Given the description of an element on the screen output the (x, y) to click on. 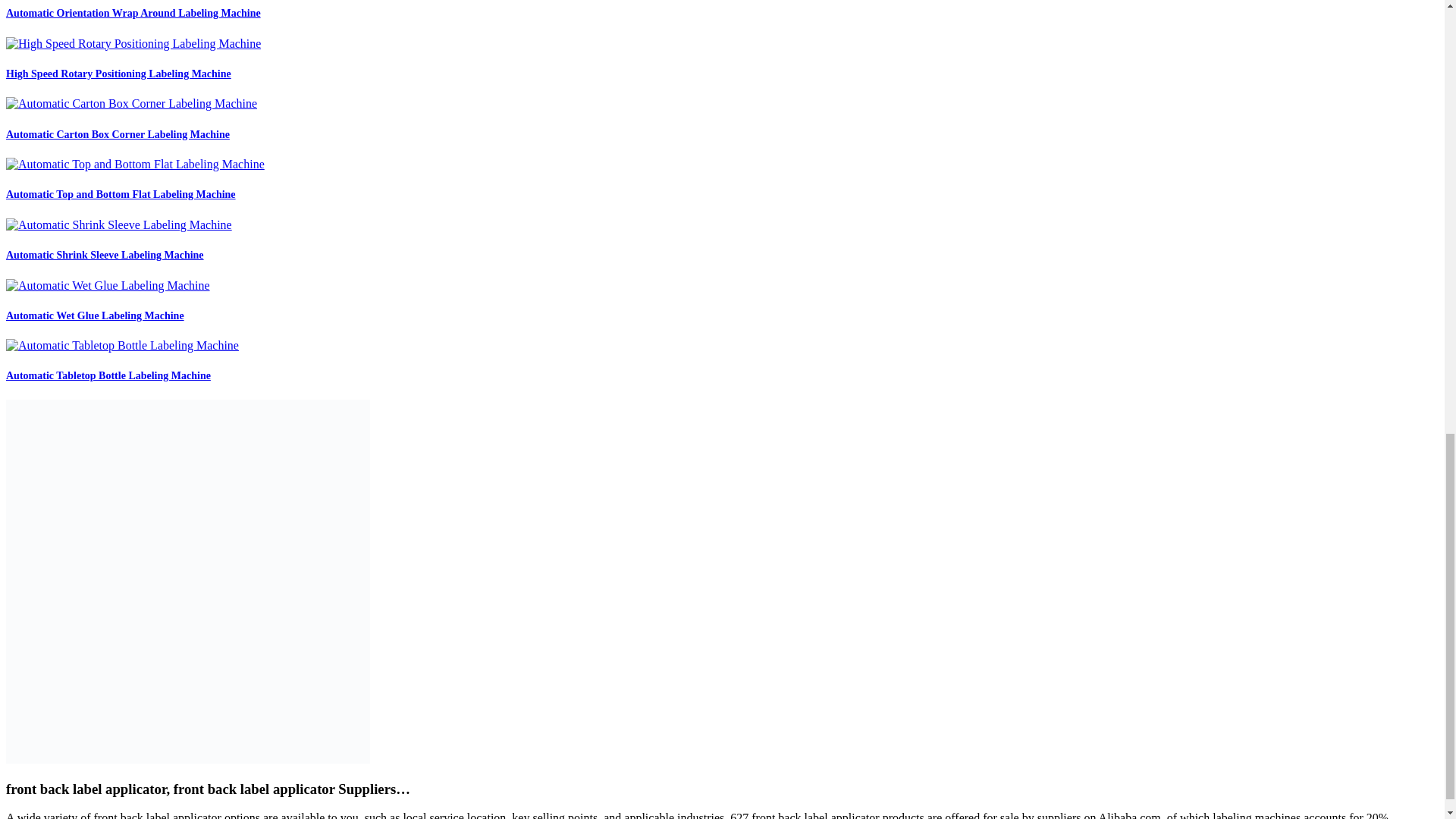
Automatic Orientation Wrap Around Labeling Machine (132, 12)
Automatic Carton Box Corner Labeling Machine (117, 134)
High Speed Rotary Positioning Labeling Machine (118, 73)
